Given the description of an element on the screen output the (x, y) to click on. 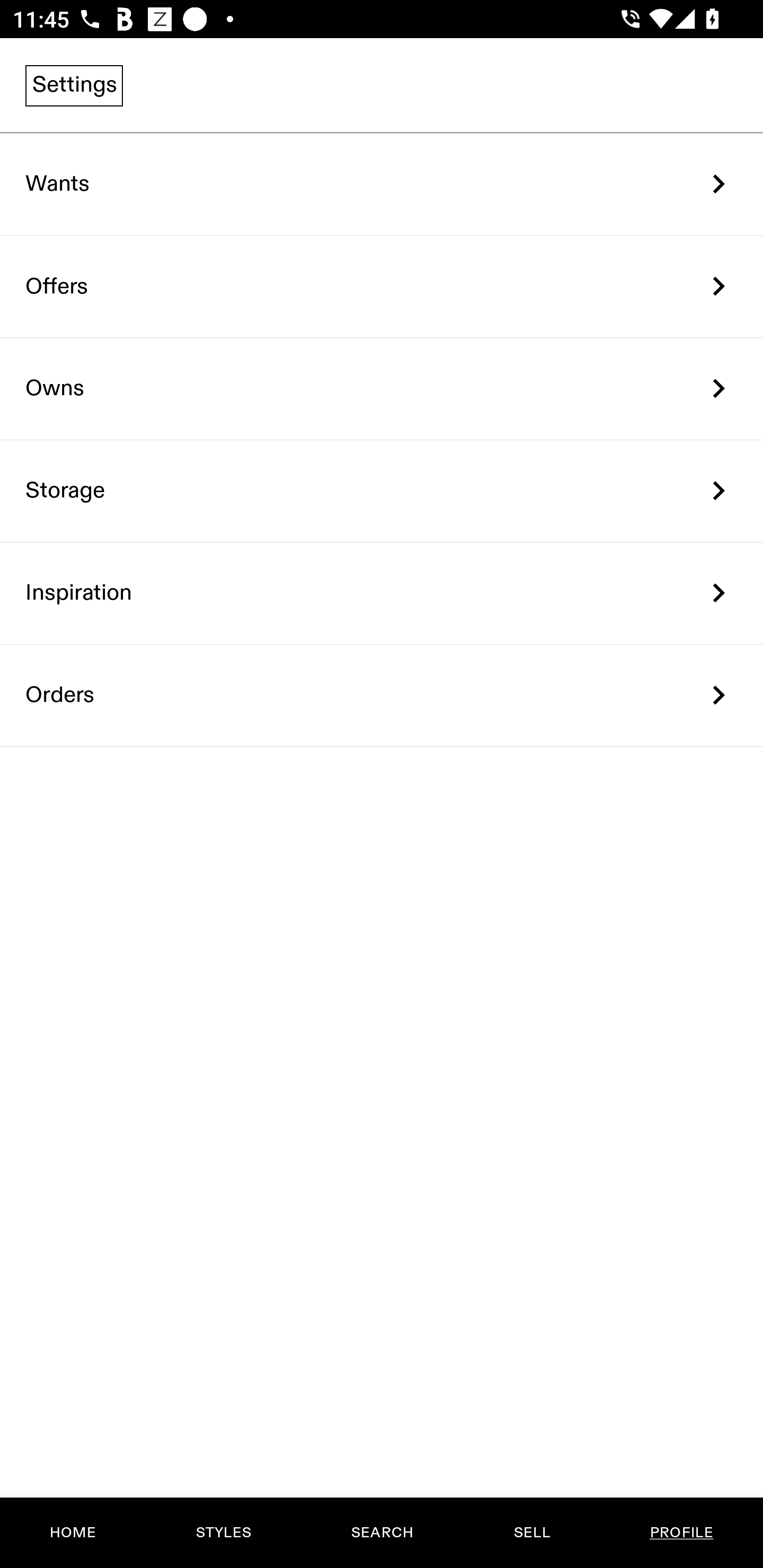
Settings (73, 85)
Wants (381, 184)
Offers (381, 286)
Owns (381, 388)
Storage (381, 491)
Inspiration (381, 593)
Orders (381, 695)
HOME (72, 1532)
STYLES (222, 1532)
SEARCH (381, 1532)
SELL (531, 1532)
PROFILE (681, 1532)
